Given the description of an element on the screen output the (x, y) to click on. 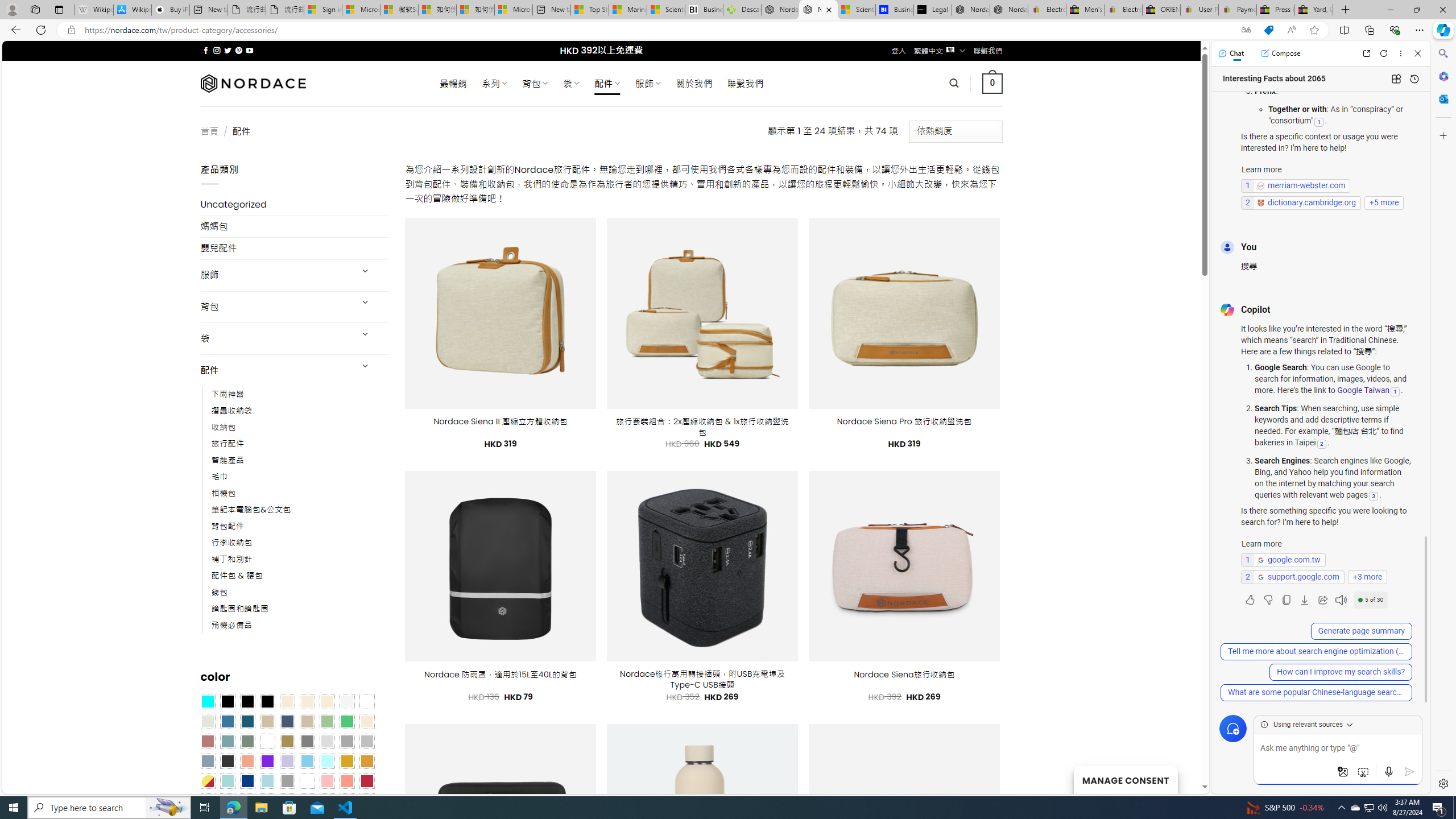
Payments Terms of Use | eBay.com (1237, 9)
